Given the description of an element on the screen output the (x, y) to click on. 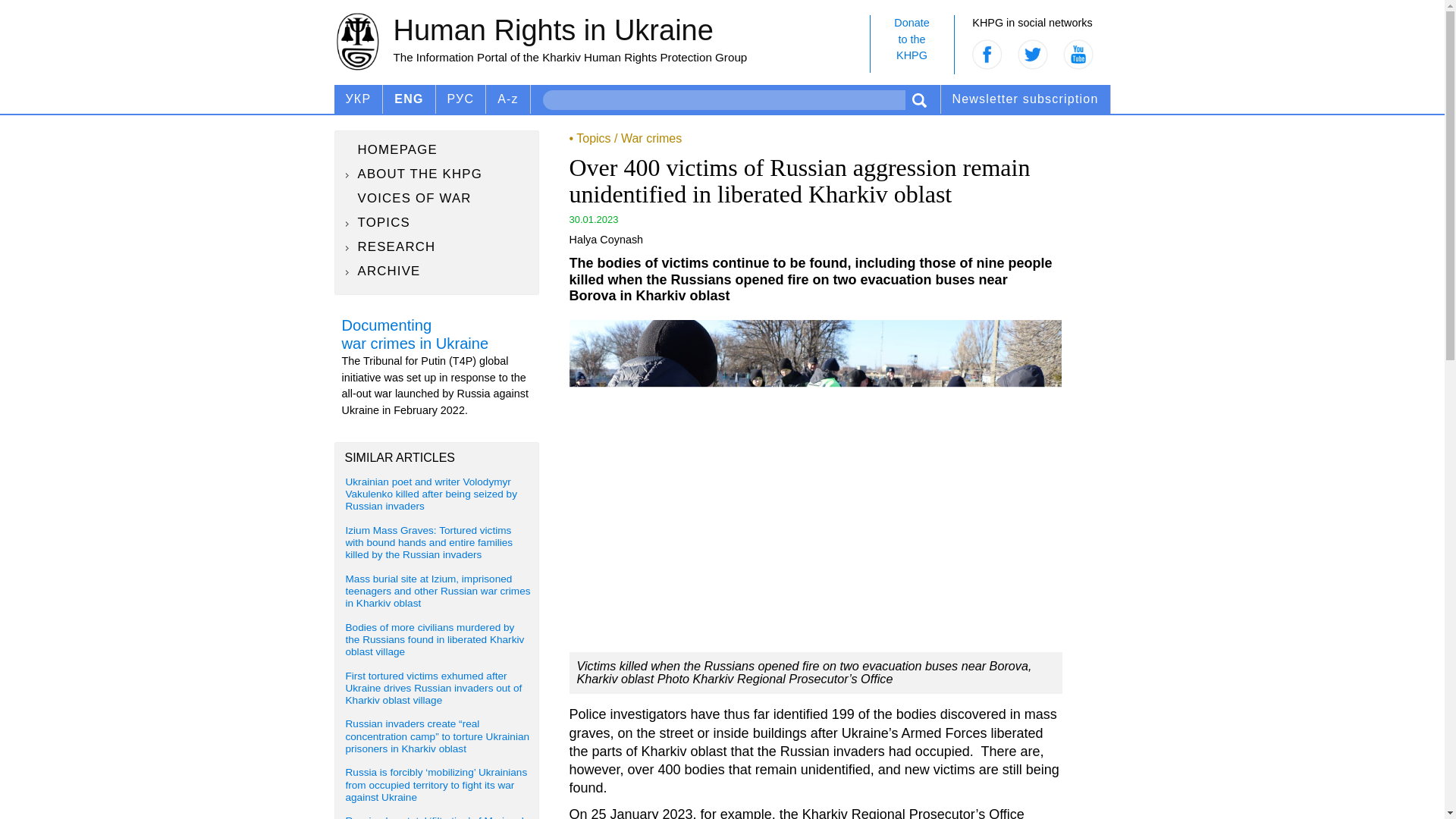
Newsletter subscription (1024, 99)
HOMEPAGE (911, 43)
TOPICS (437, 149)
A-z (437, 222)
VOICES OF WAR (507, 99)
ABOUT THE KHPG (437, 198)
